Given the description of an element on the screen output the (x, y) to click on. 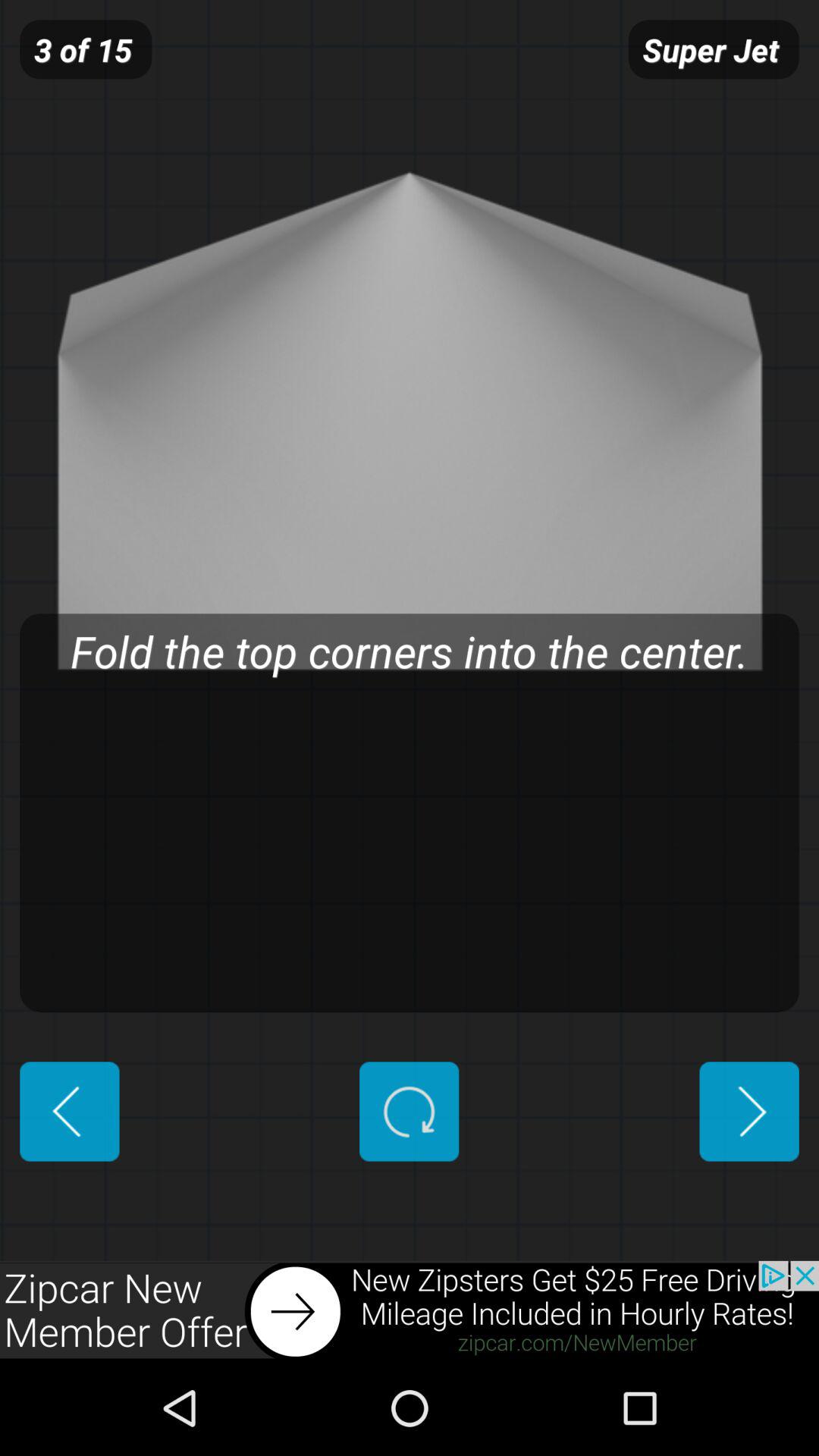
replay the video (408, 1111)
